Given the description of an element on the screen output the (x, y) to click on. 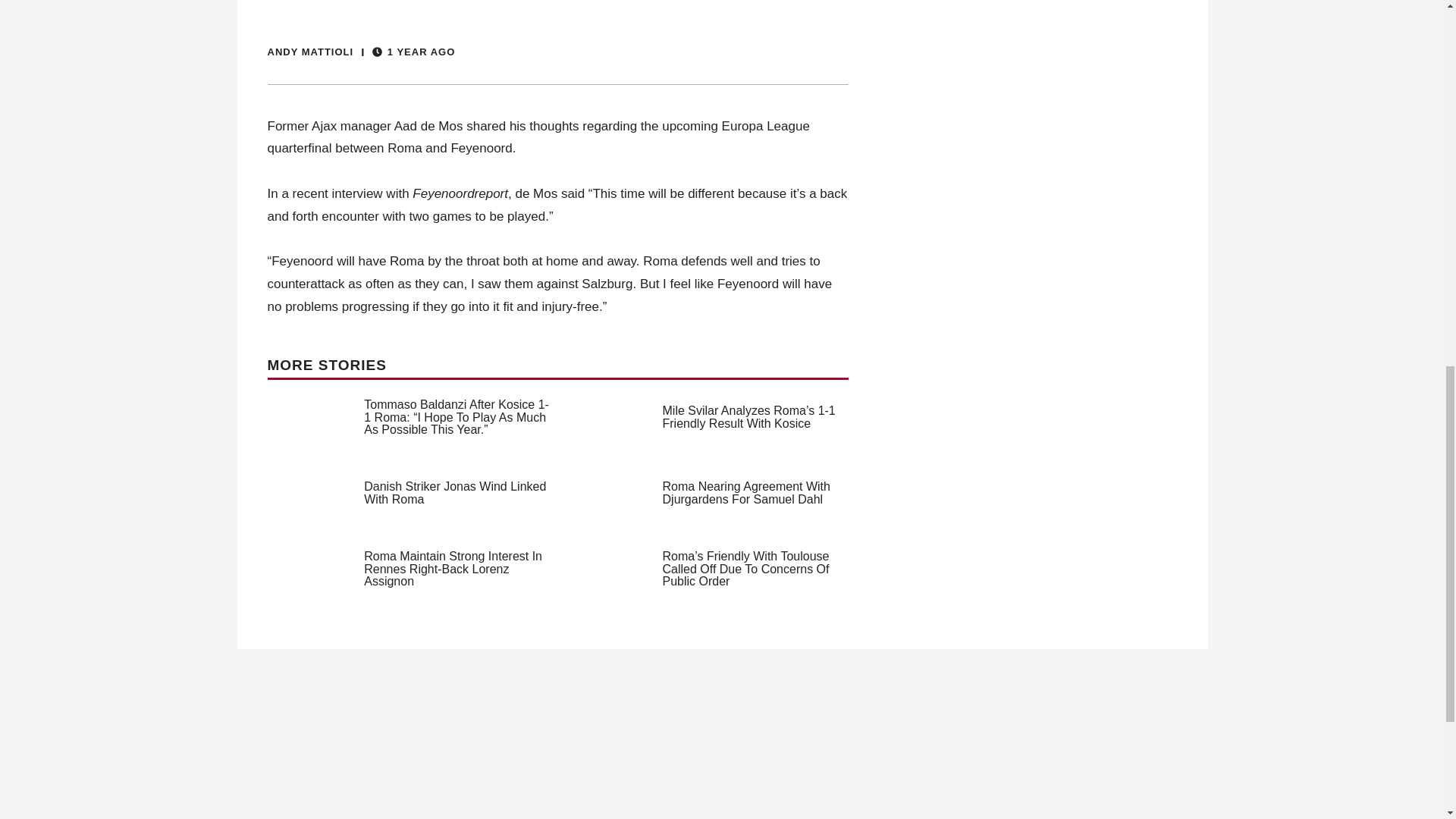
Danish Striker Jonas Wind Linked With Roma (455, 492)
Roma Nearing Agreement With Djurgardens For Samuel Dahl (745, 492)
